Given the description of an element on the screen output the (x, y) to click on. 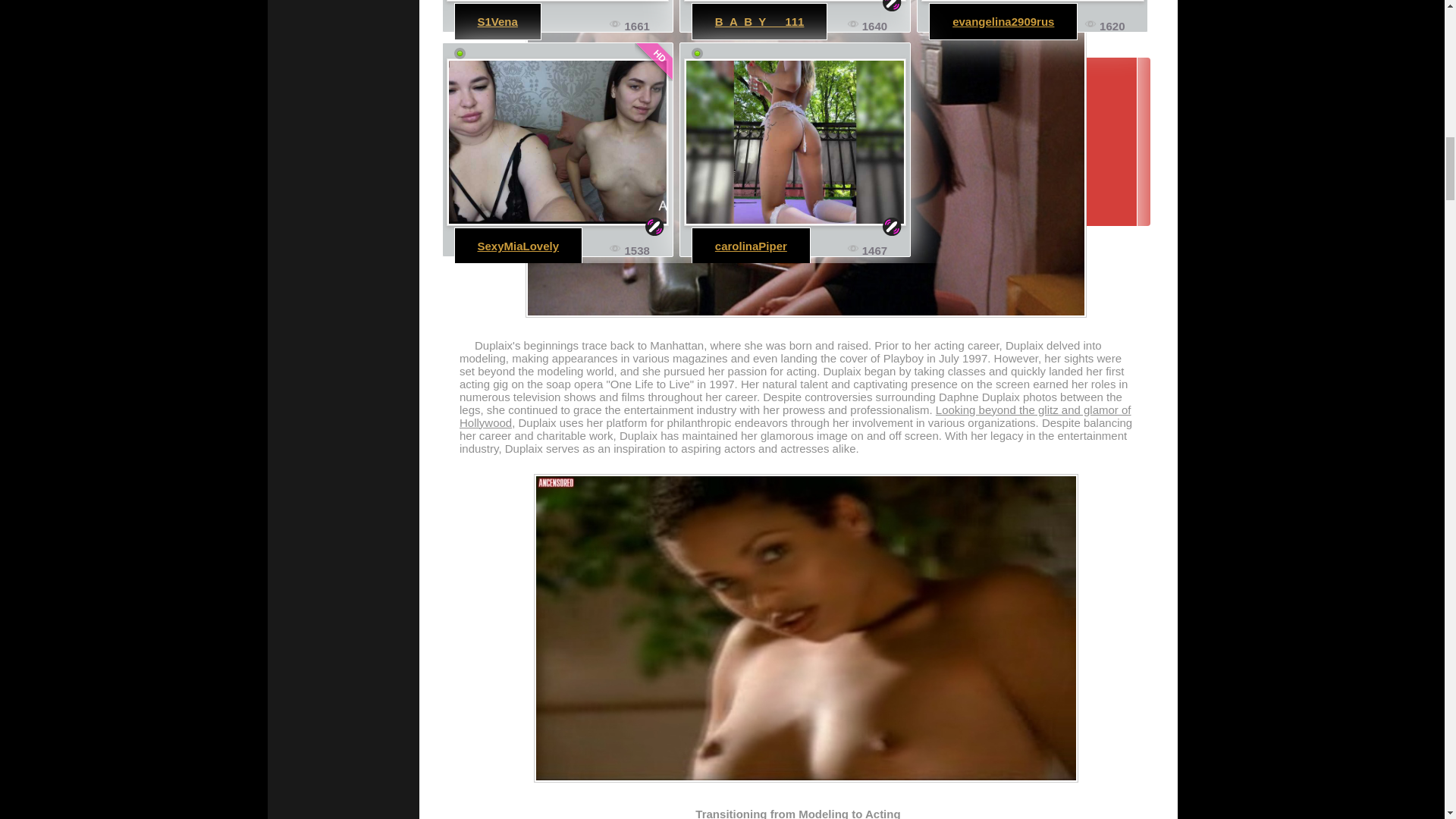
S1Vena (497, 21)
